Given the description of an element on the screen output the (x, y) to click on. 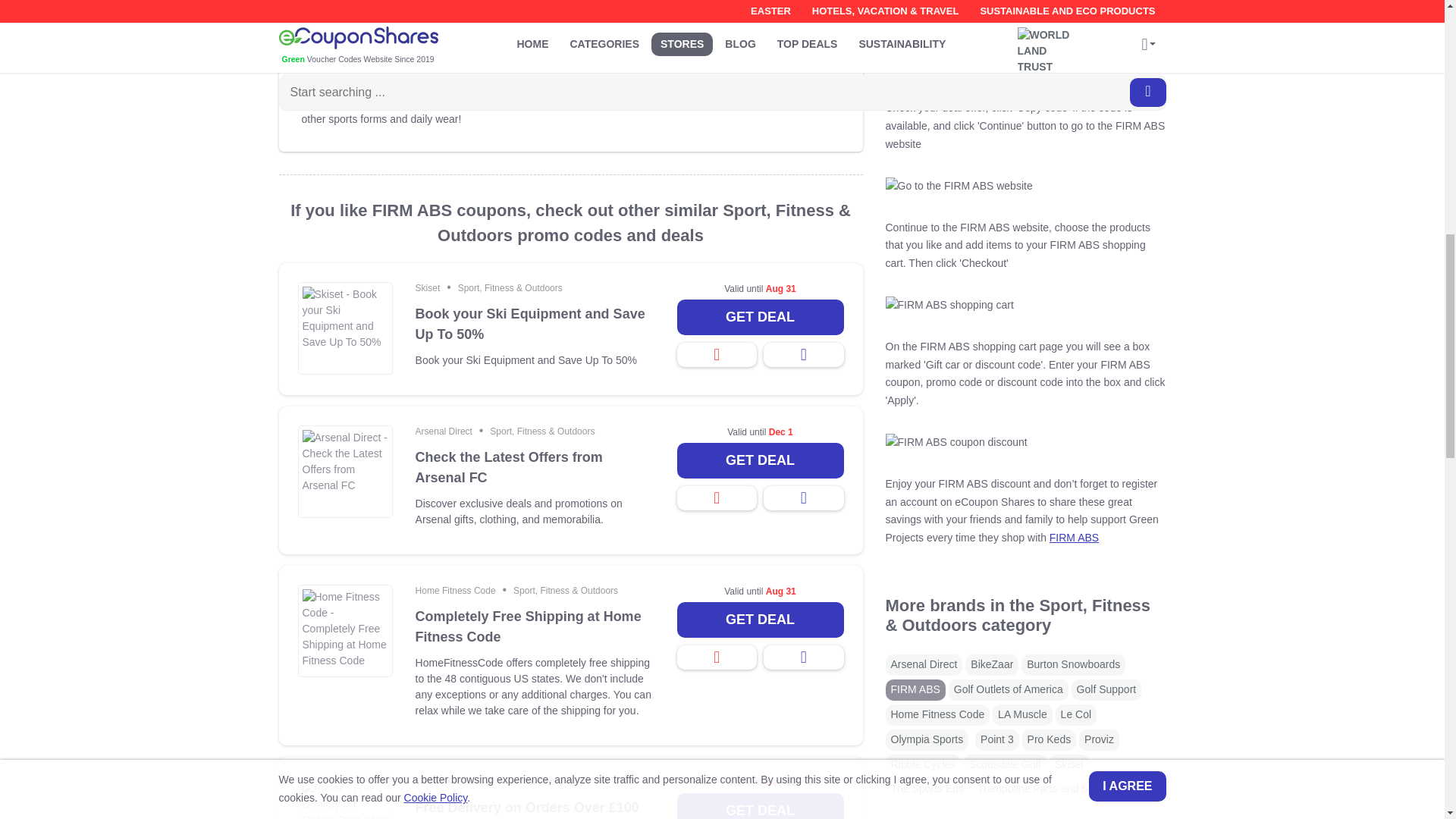
Check the Latest Offers from Arsenal FC (533, 467)
Home Fitness Code (455, 590)
GET DEAL (760, 460)
Arsenal Direct (442, 430)
GET DEAL (760, 619)
Skiset (427, 287)
Completely Free Shipping at Home Fitness Code (533, 626)
Skiset (427, 287)
GET DEAL (760, 316)
